Given the description of an element on the screen output the (x, y) to click on. 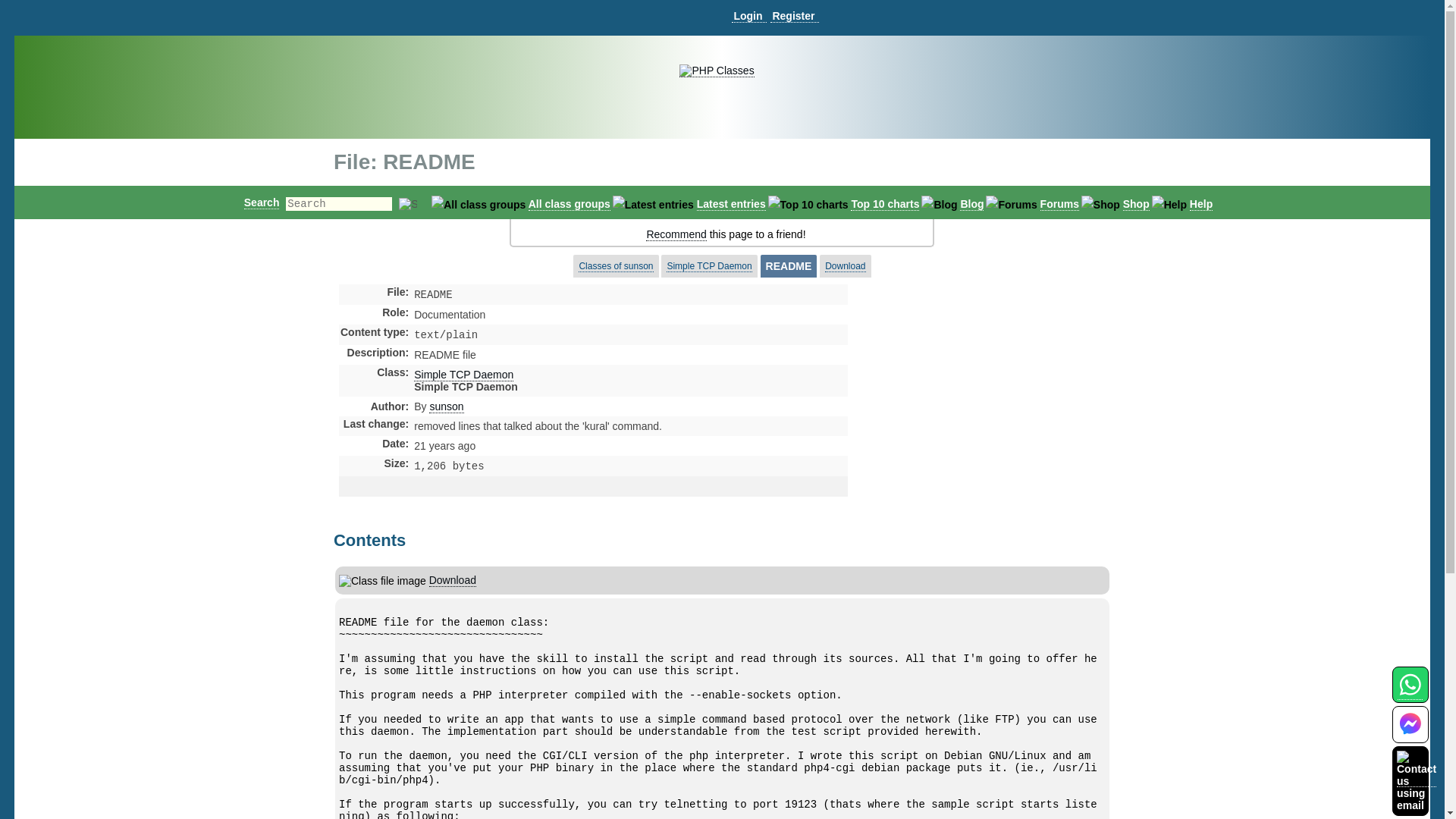
Help (1200, 204)
Download (452, 579)
Classes of sunson (615, 266)
Register (794, 15)
Contact us using email (1415, 780)
Simple TCP Daemon (708, 266)
sunson (446, 406)
Contact us using WhatsApp (1409, 693)
2002-08-02 12:13:22 (444, 445)
Download (844, 266)
Latest entries (731, 204)
Blog (971, 204)
Login (748, 15)
Search (261, 201)
Simple TCP Daemon (463, 374)
